Given the description of an element on the screen output the (x, y) to click on. 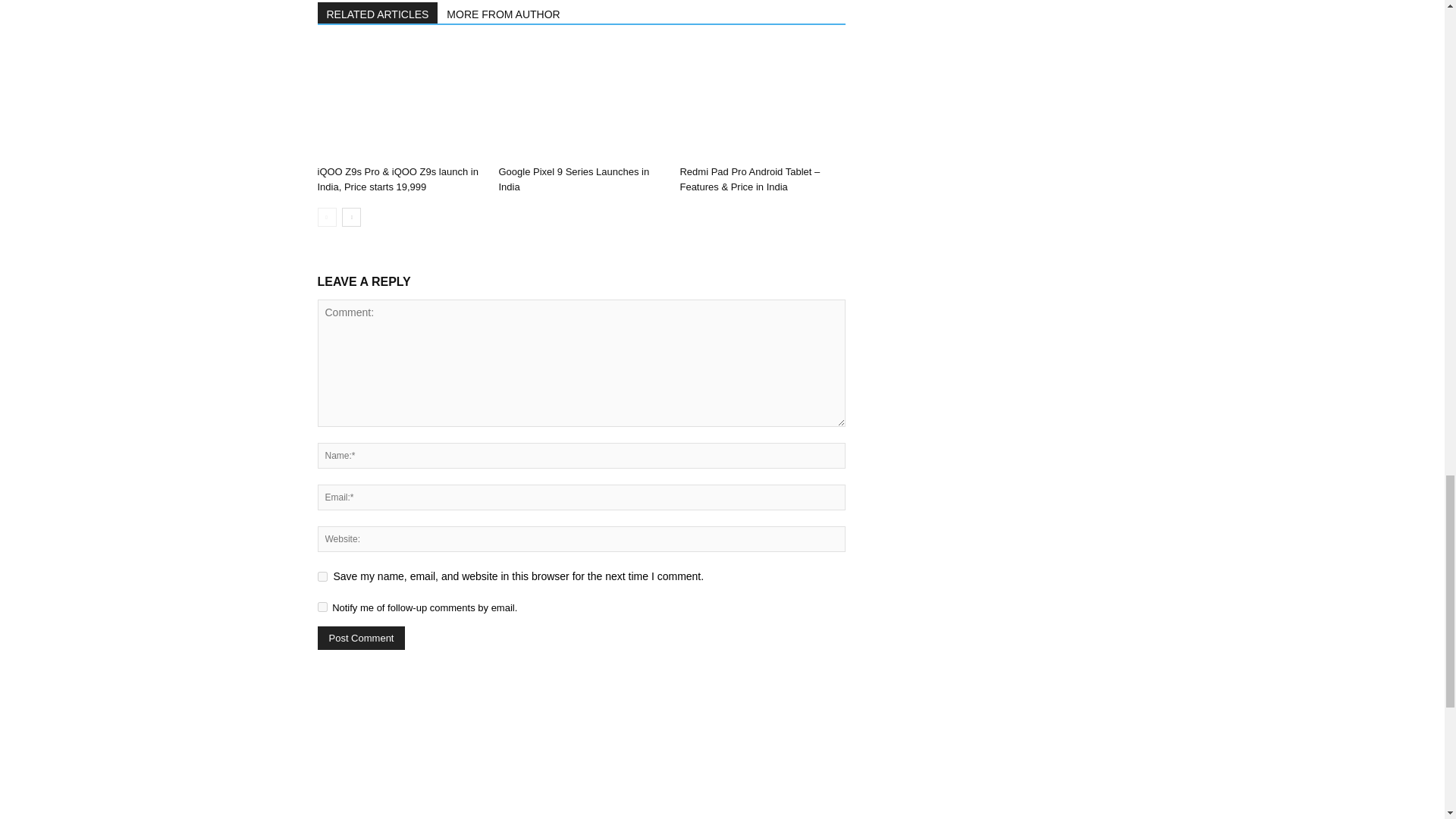
Post Comment (360, 638)
yes (321, 576)
subscribe (321, 606)
